Given the description of an element on the screen output the (x, y) to click on. 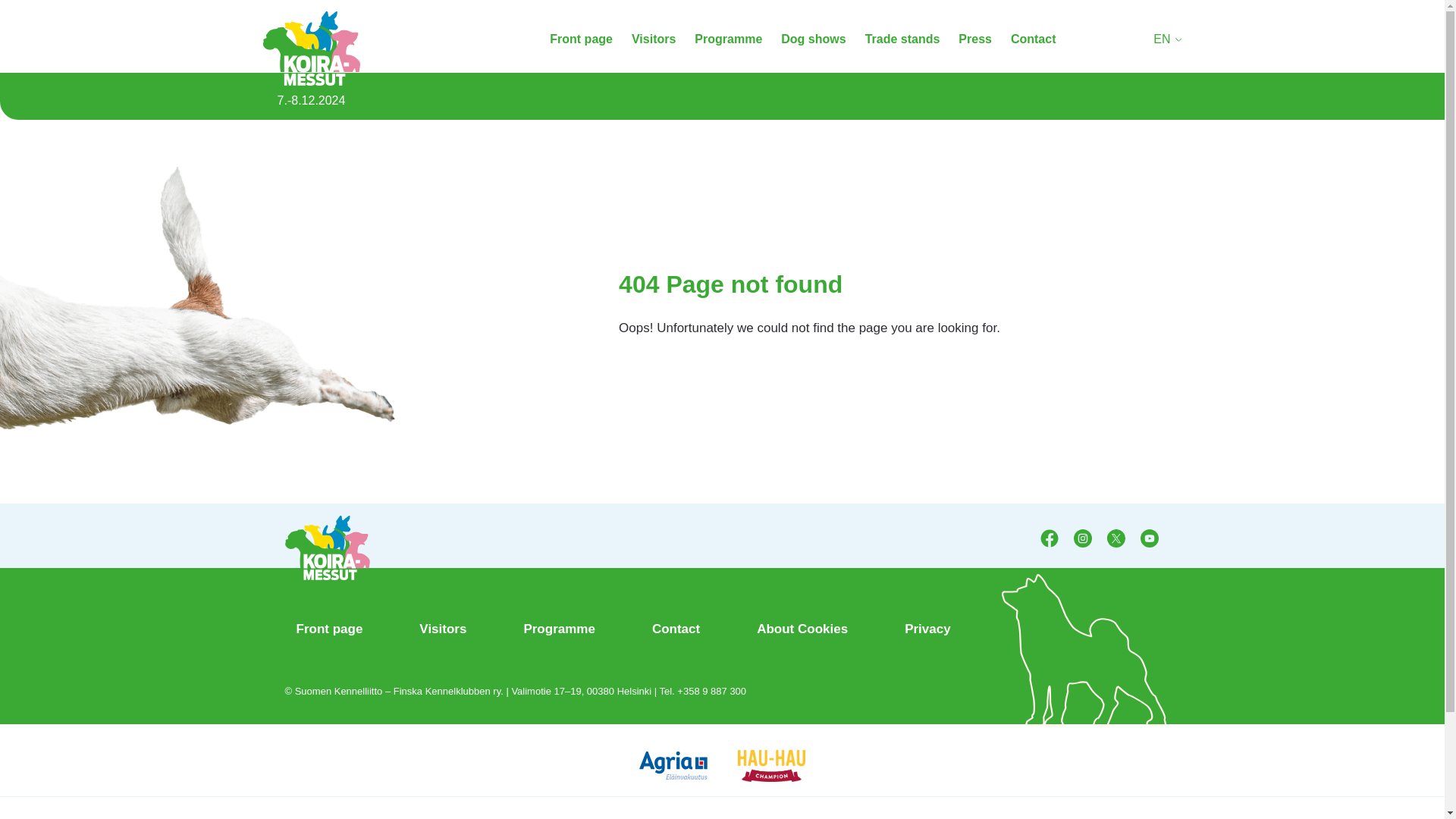
Trade stands (902, 38)
Dog shows (812, 38)
Front page (581, 38)
Visitors (653, 38)
Programme (727, 38)
Press (974, 38)
Contact (1033, 38)
